Given the description of an element on the screen output the (x, y) to click on. 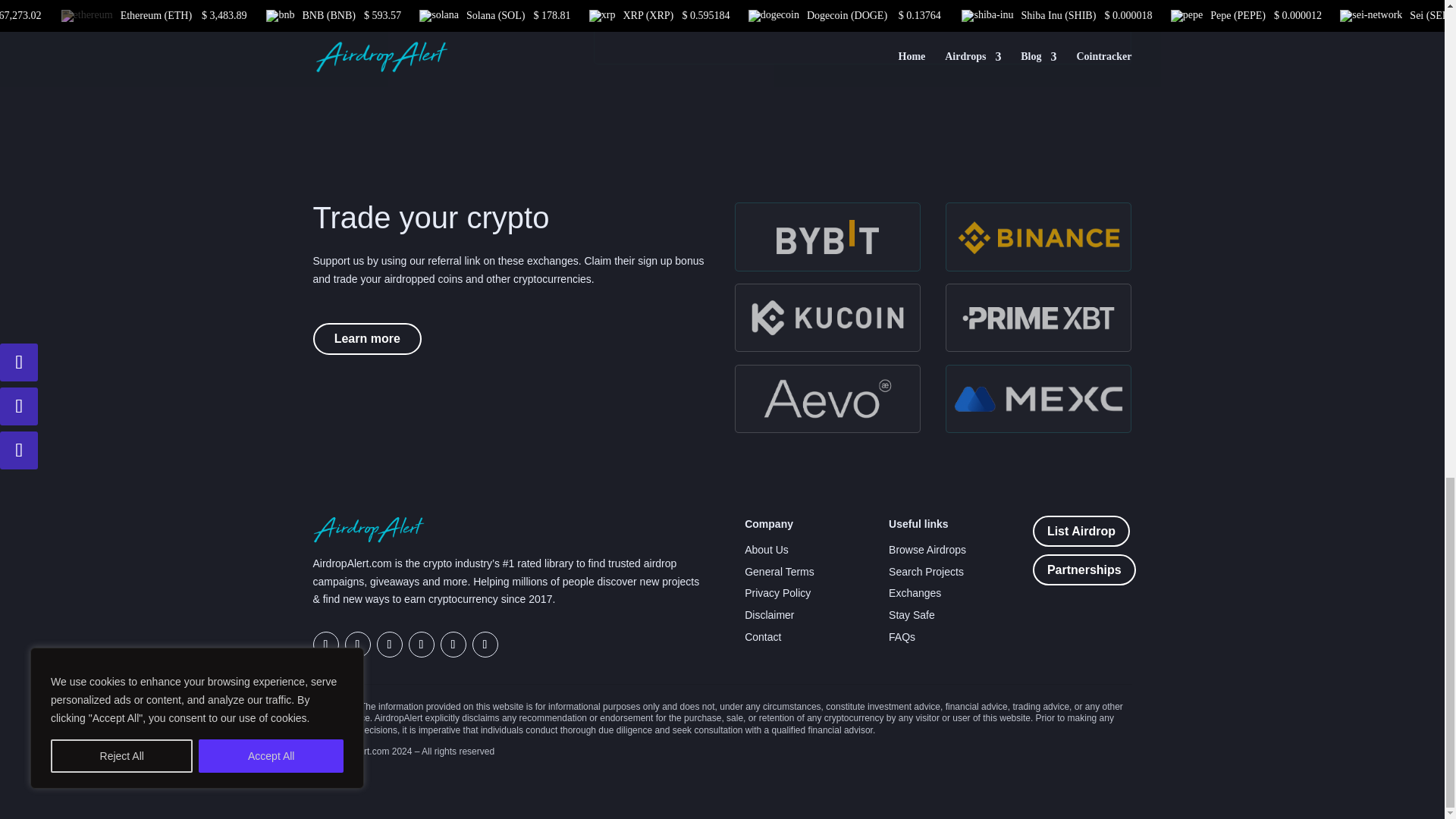
Follow on Instagram (420, 644)
Follow on LinkedIn (484, 644)
airdropalert-bybit-logo (827, 236)
Follow on X (356, 644)
AA-logos-aevo (827, 398)
airdrop-alert-logo (369, 529)
mexc-logo-airdropalert (1038, 398)
prime-xbt-logo-airdropalert (1038, 317)
Airdropalert-Binance-logo (1038, 236)
Follow on Facebook (388, 644)
AA-logos-exchanges-kucoin (827, 317)
Follow on Youtube (452, 644)
Follow on Telegram (325, 644)
